Given the description of an element on the screen output the (x, y) to click on. 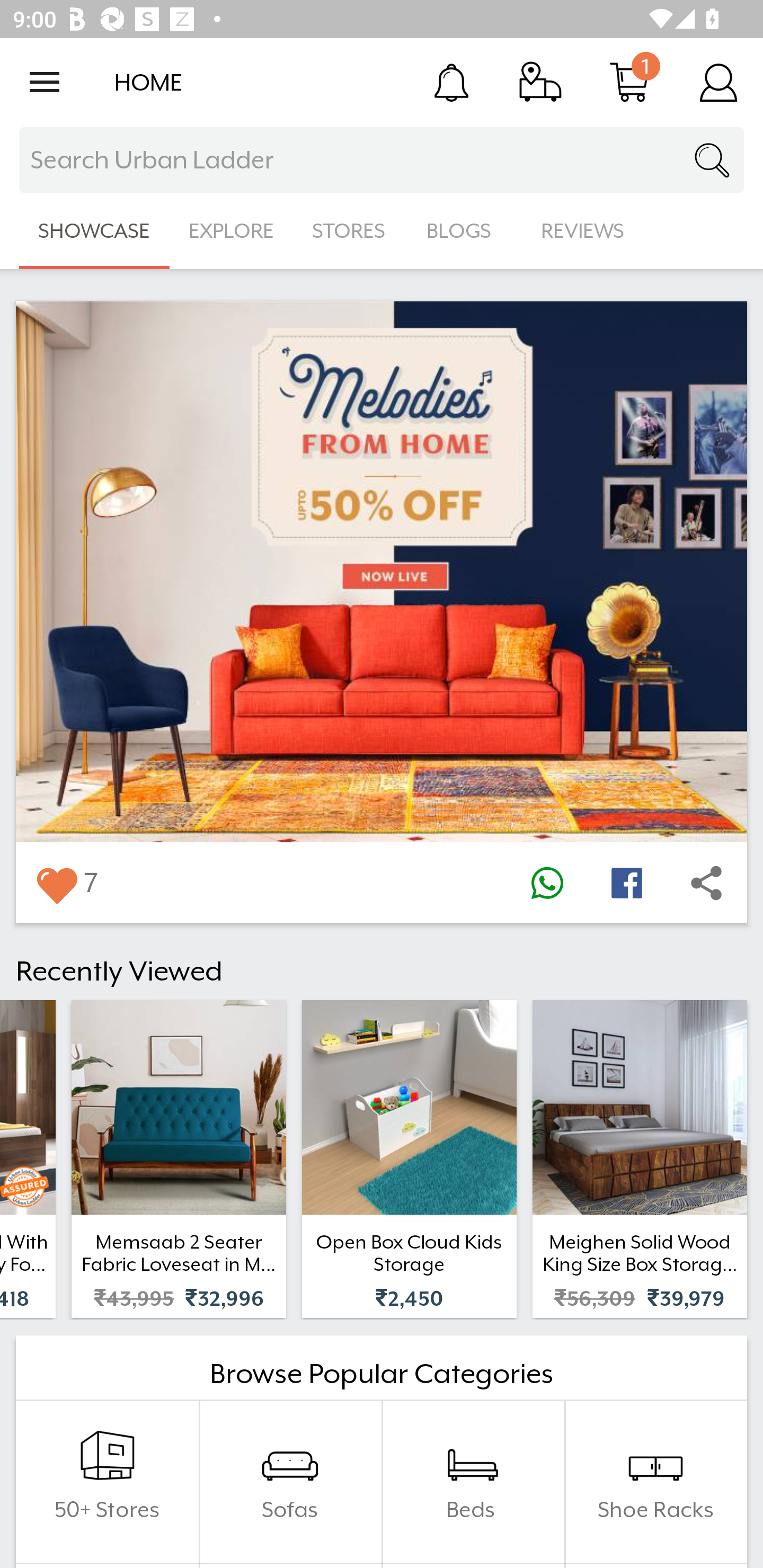
Open navigation drawer (44, 82)
Notification (450, 81)
Track Order (540, 81)
Cart (629, 81)
Account Details (718, 81)
Search Urban Ladder  (381, 159)
SHOWCASE (94, 230)
EXPLORE (230, 230)
STORES (349, 230)
BLOGS (464, 230)
REVIEWS (582, 230)
 (55, 882)
 (547, 882)
 (626, 882)
 (706, 882)
Open Box Cloud Kids Storage ₹2,450 (409, 1159)
50+ Stores (106, 1481)
Sofas (289, 1481)
Beds  (473, 1481)
Shoe Racks (655, 1481)
